Given the description of an element on the screen output the (x, y) to click on. 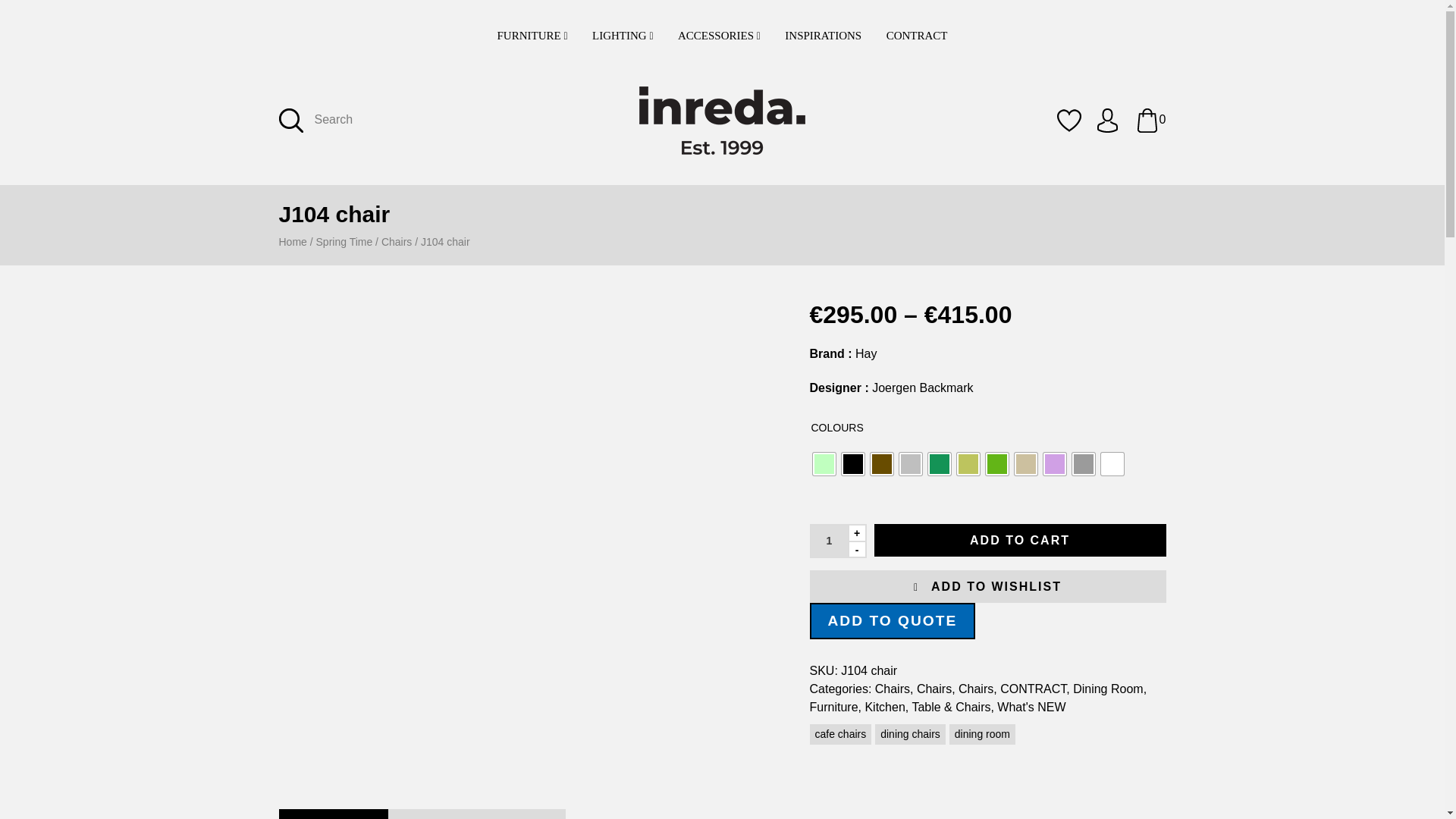
Lacquered Oak (967, 463)
Dusty Grey (910, 463)
Beech (823, 463)
Dark Oiled Oak (881, 463)
- (856, 548)
1 (828, 540)
LIGHTING (621, 35)
Black (852, 463)
Oiled Oak (997, 463)
Jade Green (939, 463)
